Given the description of an element on the screen output the (x, y) to click on. 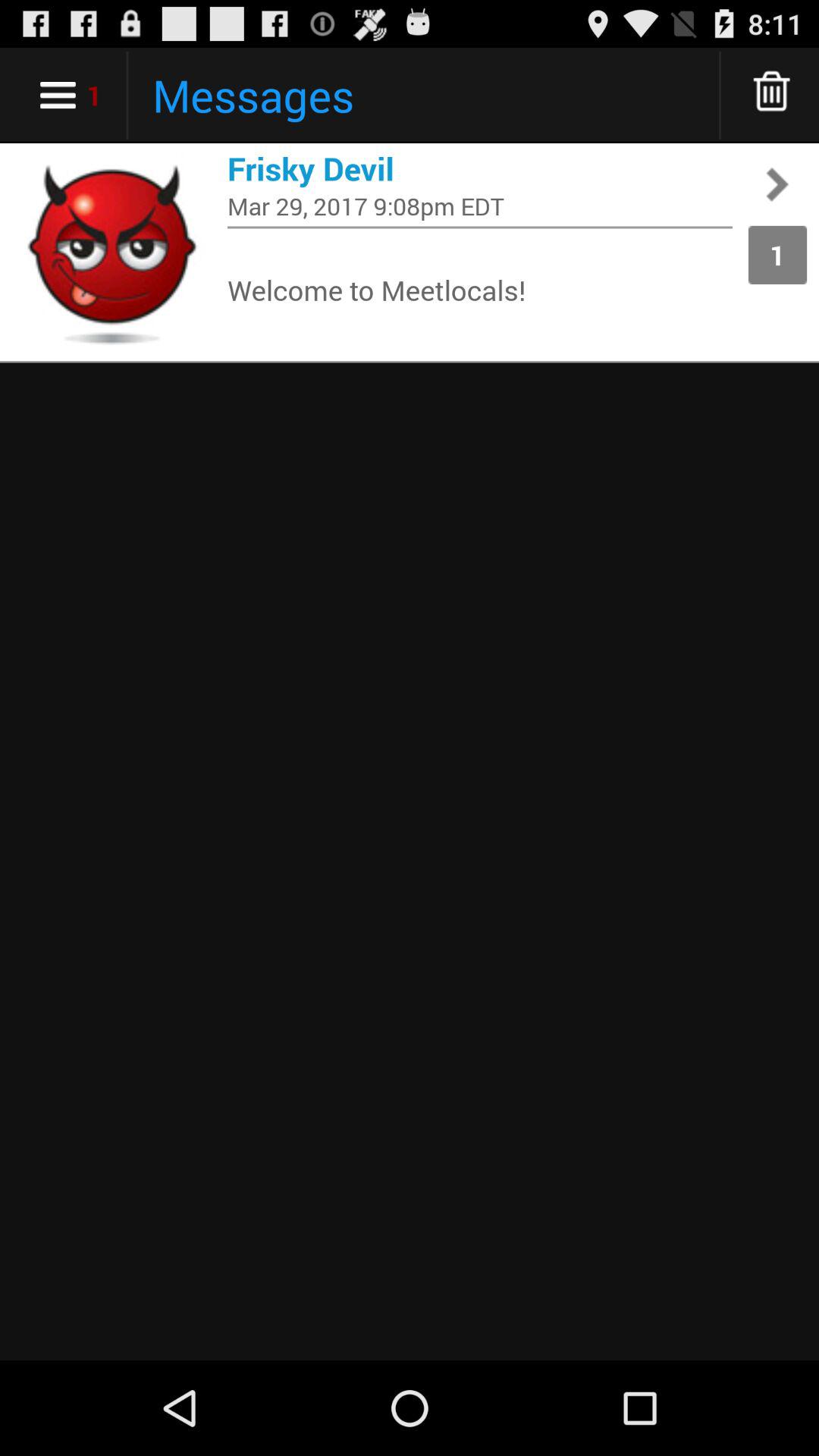
turn off the item above mar 29 2017 item (479, 168)
